Given the description of an element on the screen output the (x, y) to click on. 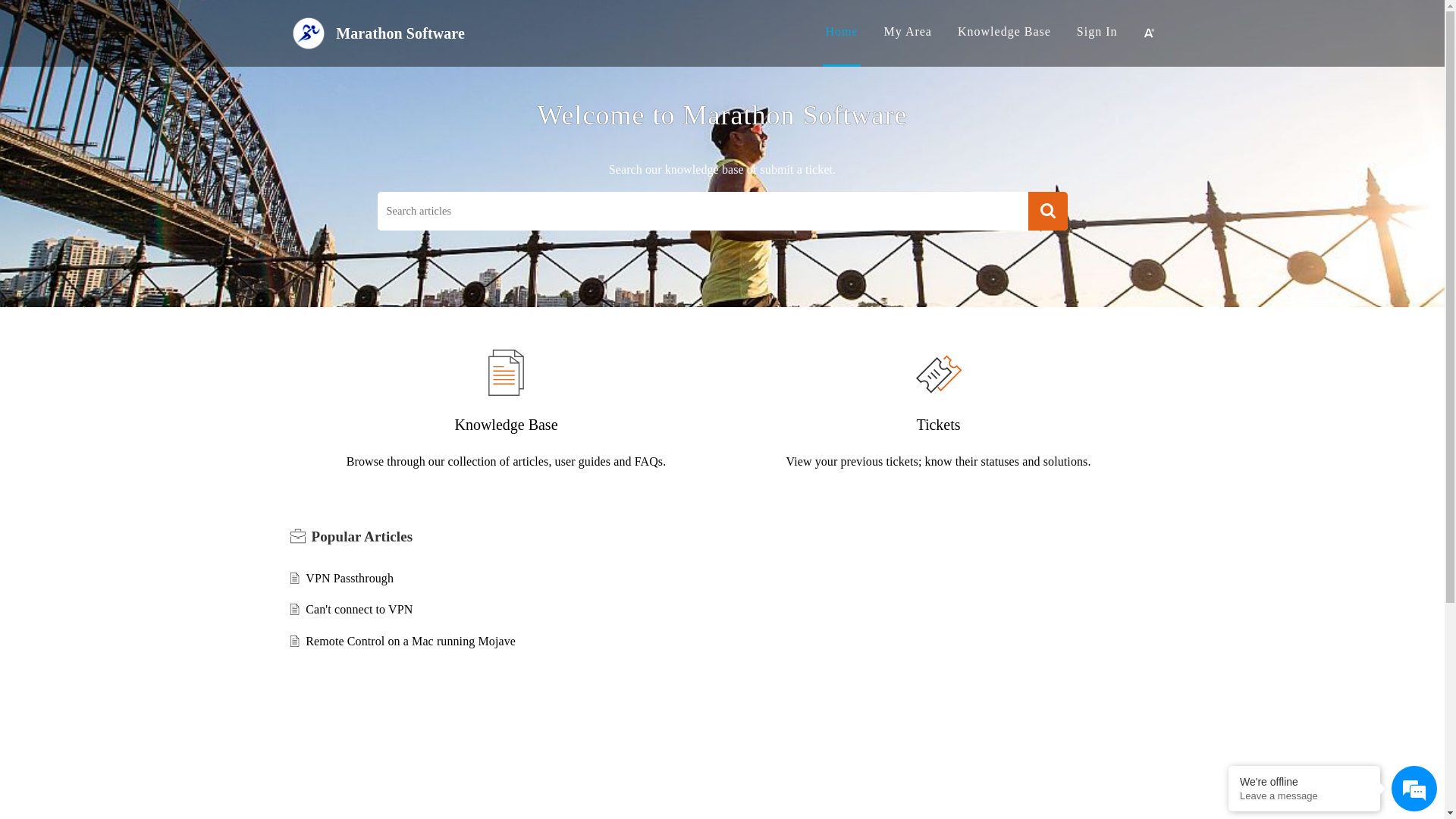
Can't connect to VPN Element type: text (358, 608)
Sign In Element type: text (1096, 31)
Home Element type: text (841, 31)
Remote Control on a Mac running Mojave Element type: text (410, 640)
Knowledge Base Element type: text (505, 424)
VPN Passthrough Element type: text (349, 577)
Search Element type: hover (1047, 210)
Knowledge Base Element type: text (1004, 31)
My Area Element type: text (907, 31)
Tickets Element type: text (938, 424)
